Given the description of an element on the screen output the (x, y) to click on. 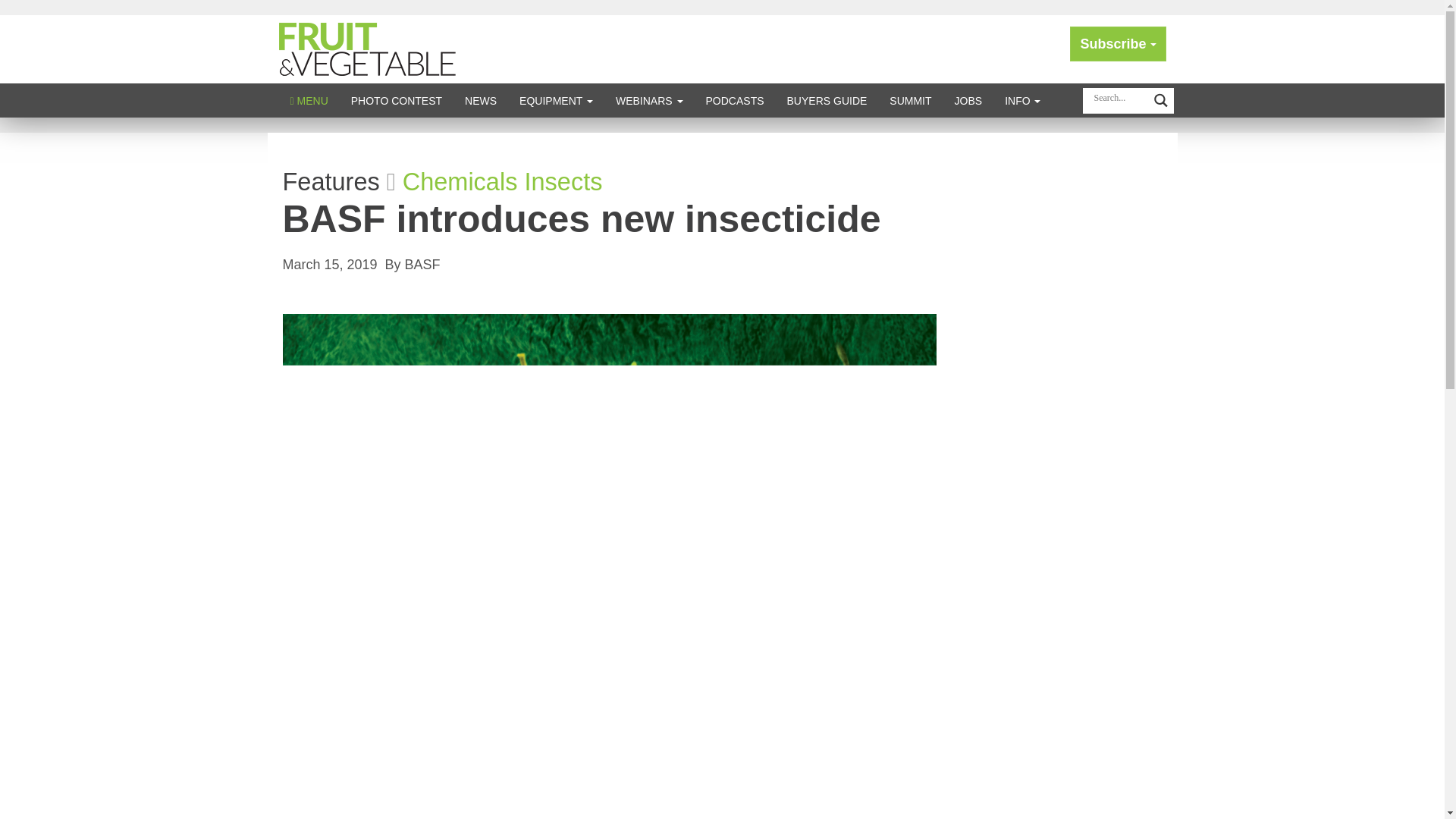
Subscribe (1118, 43)
Click to show site navigation (309, 100)
EQUIPMENT (556, 100)
BUYERS GUIDE (827, 100)
WEBINARS (649, 100)
INFO (1021, 100)
JOBS (968, 100)
MENU (309, 100)
NEWS (480, 100)
PODCASTS (735, 100)
